Given the description of an element on the screen output the (x, y) to click on. 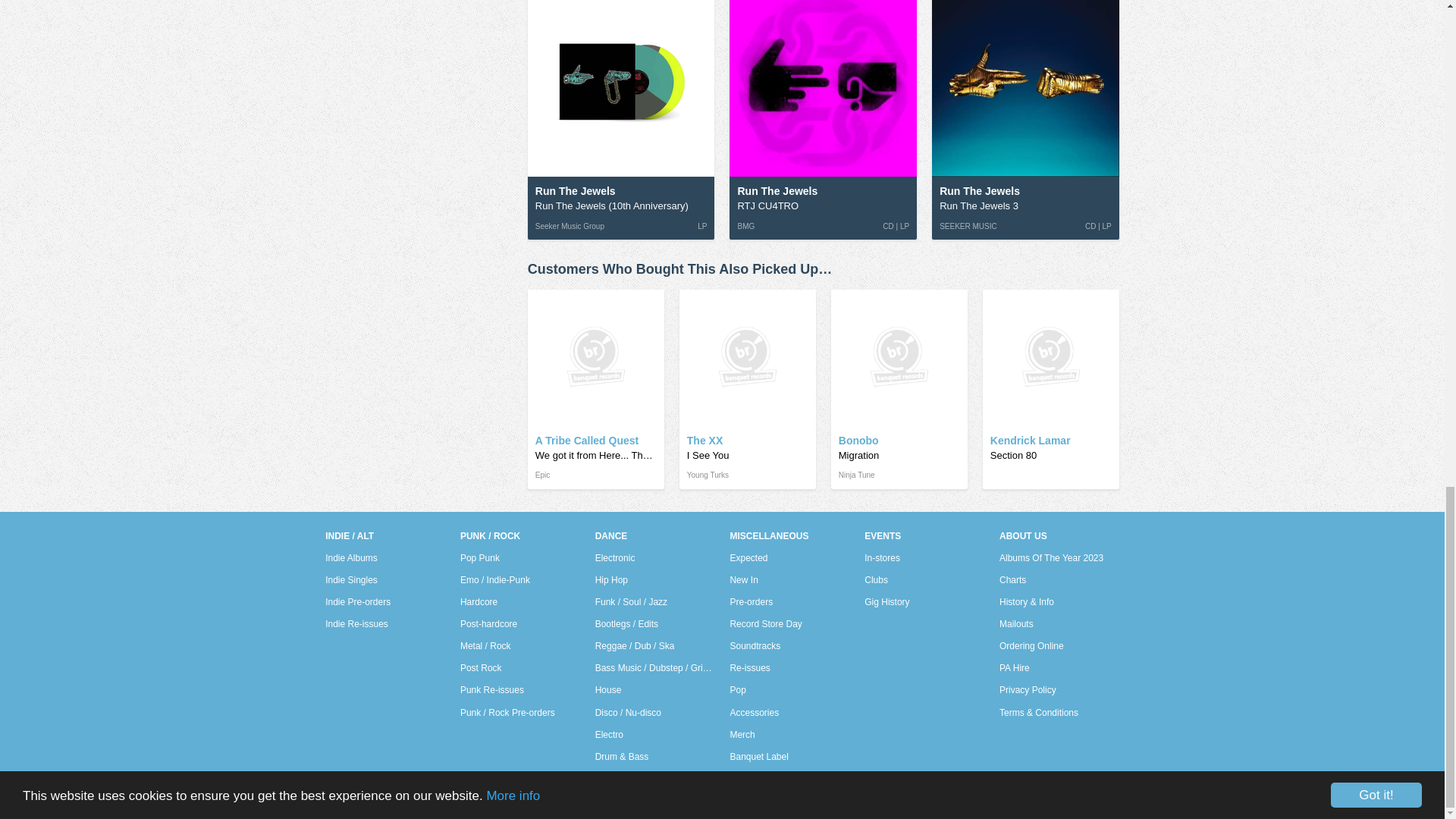
Indie Re-issues (356, 624)
Indie Albums (350, 557)
Indie Singles (350, 579)
Indie Pre-orders (357, 601)
